Given the description of an element on the screen output the (x, y) to click on. 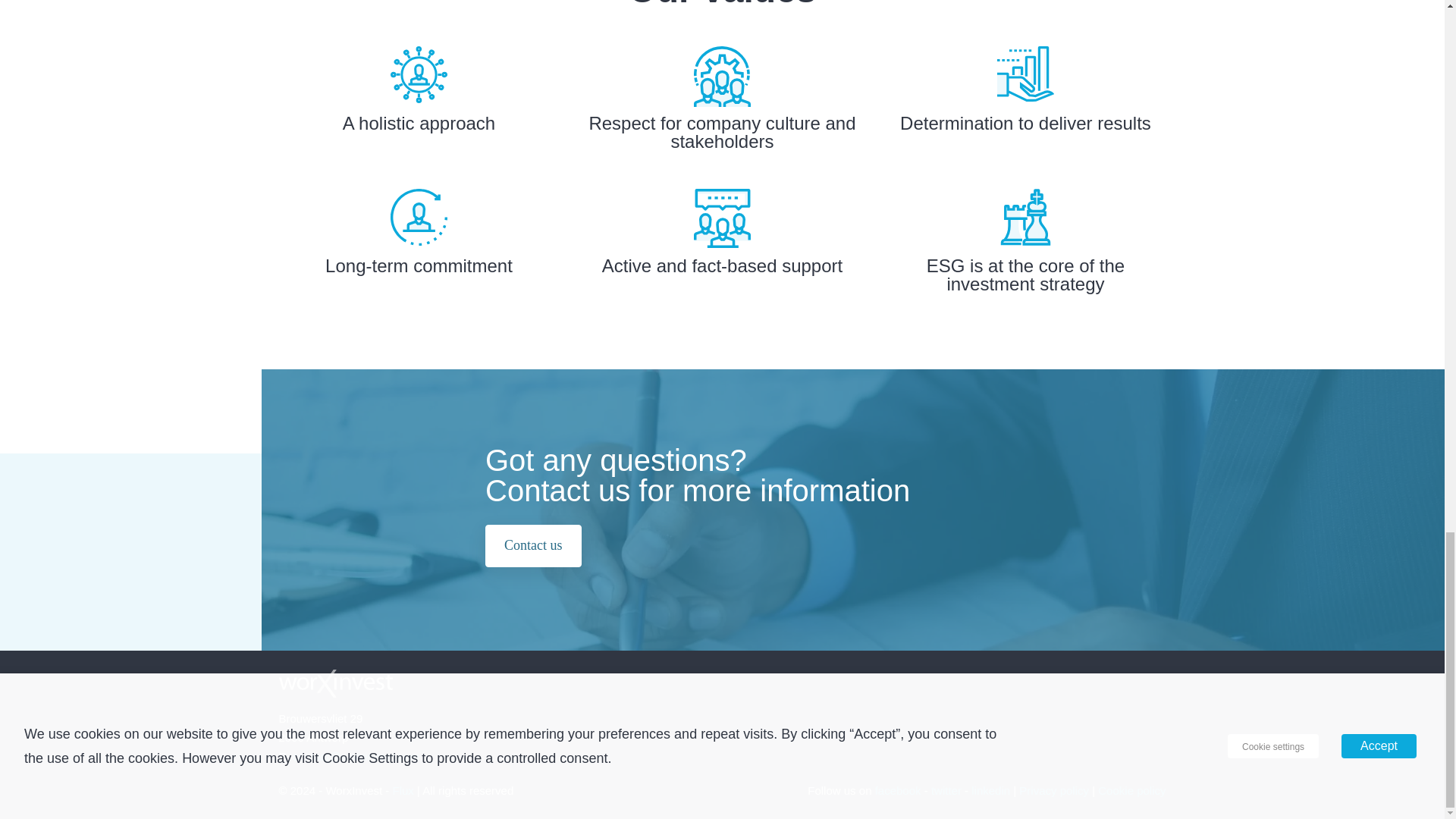
Privacy policy (1054, 789)
approach (418, 74)
test (1025, 73)
Contact us (532, 545)
strategy (1025, 217)
twitter (945, 789)
stakeholder (722, 76)
linkedin (990, 789)
Cookie policy (1131, 789)
Flux (403, 789)
support (722, 218)
facebook (898, 789)
commitment (418, 217)
